Given the description of an element on the screen output the (x, y) to click on. 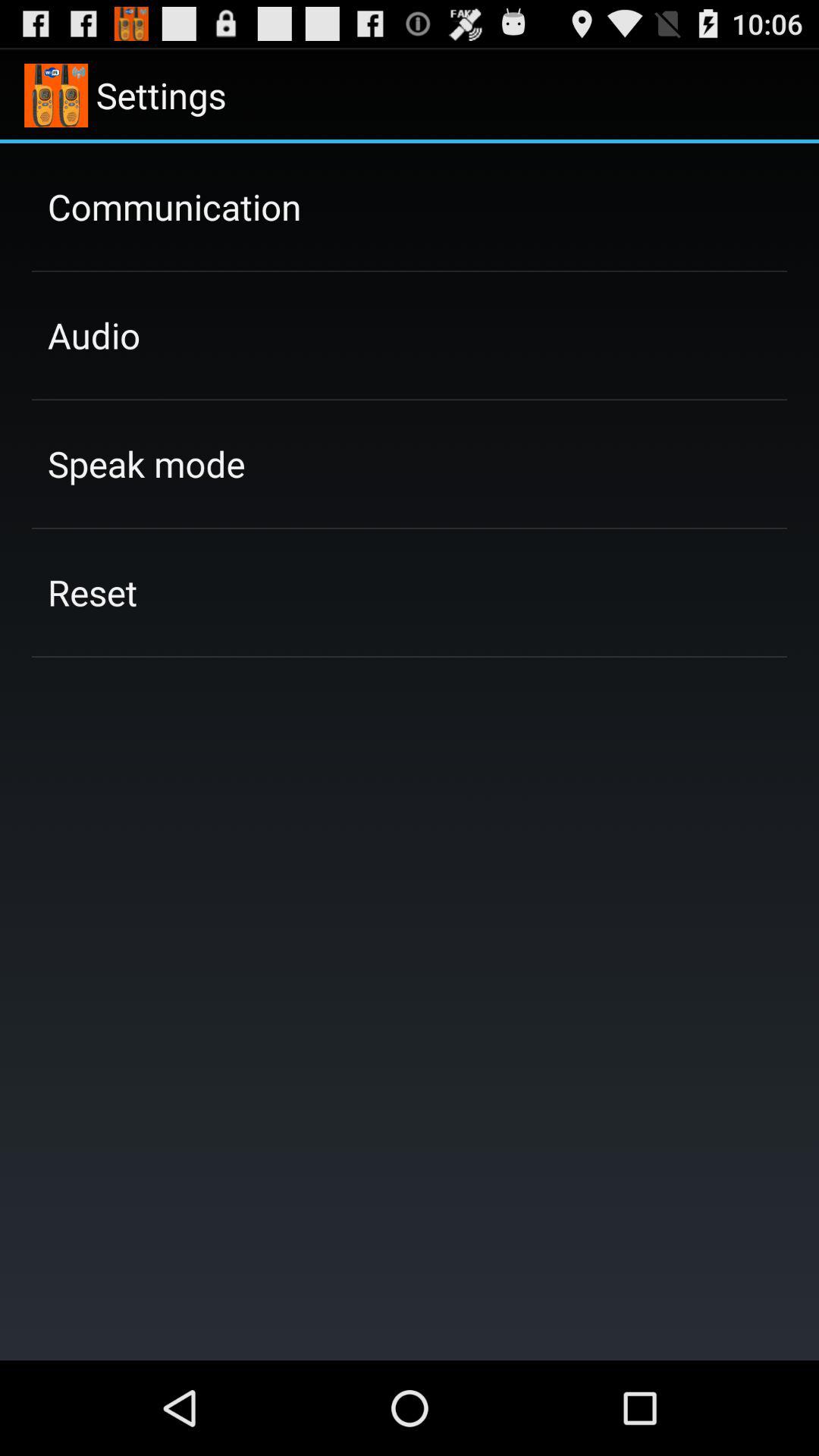
turn on app above the audio item (174, 206)
